Given the description of an element on the screen output the (x, y) to click on. 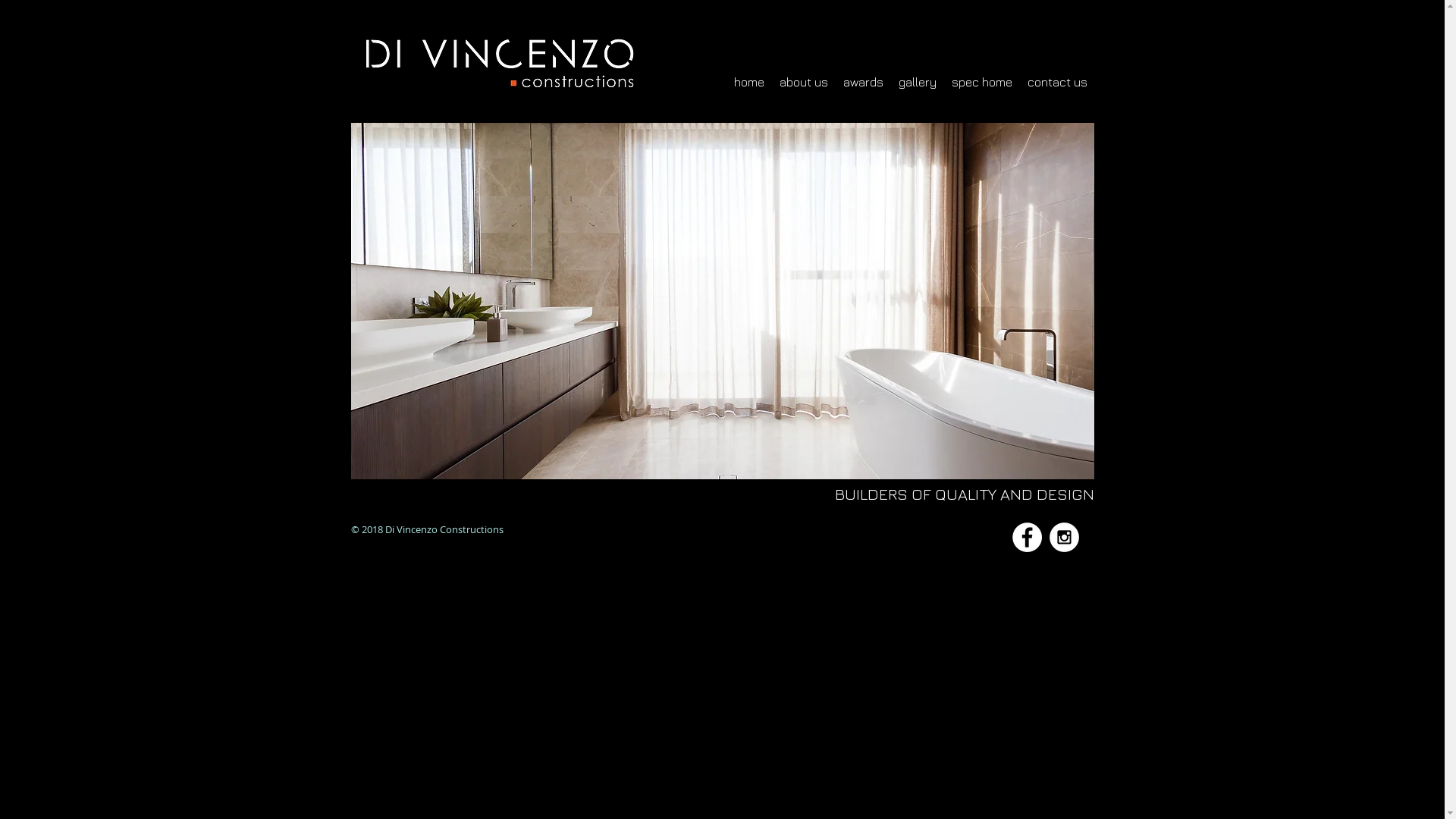
spec home Element type: text (981, 81)
home Element type: text (748, 81)
about us Element type: text (803, 81)
gallery Element type: text (916, 81)
awards Element type: text (863, 81)
contact us Element type: text (1056, 81)
